Given the description of an element on the screen output the (x, y) to click on. 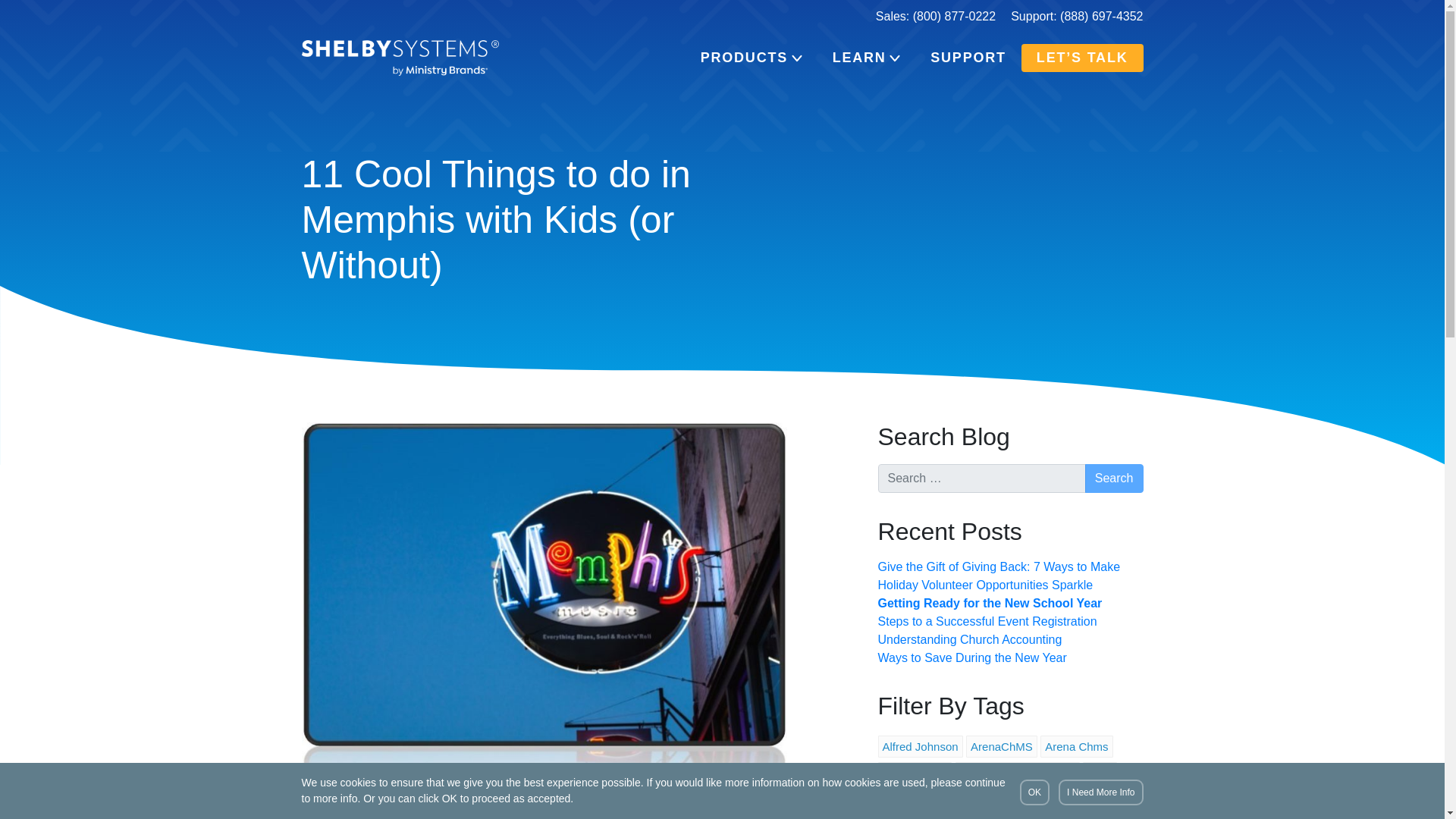
Understanding Church Accounting (969, 639)
PRODUCTS (750, 58)
Arena Select (914, 772)
Learn (865, 58)
SUPPORT (968, 58)
LEARN (865, 58)
Products (750, 58)
Ways to Save During the New Year (972, 657)
Getting Ready for the New School Year (989, 603)
Search (1113, 478)
